Given the description of an element on the screen output the (x, y) to click on. 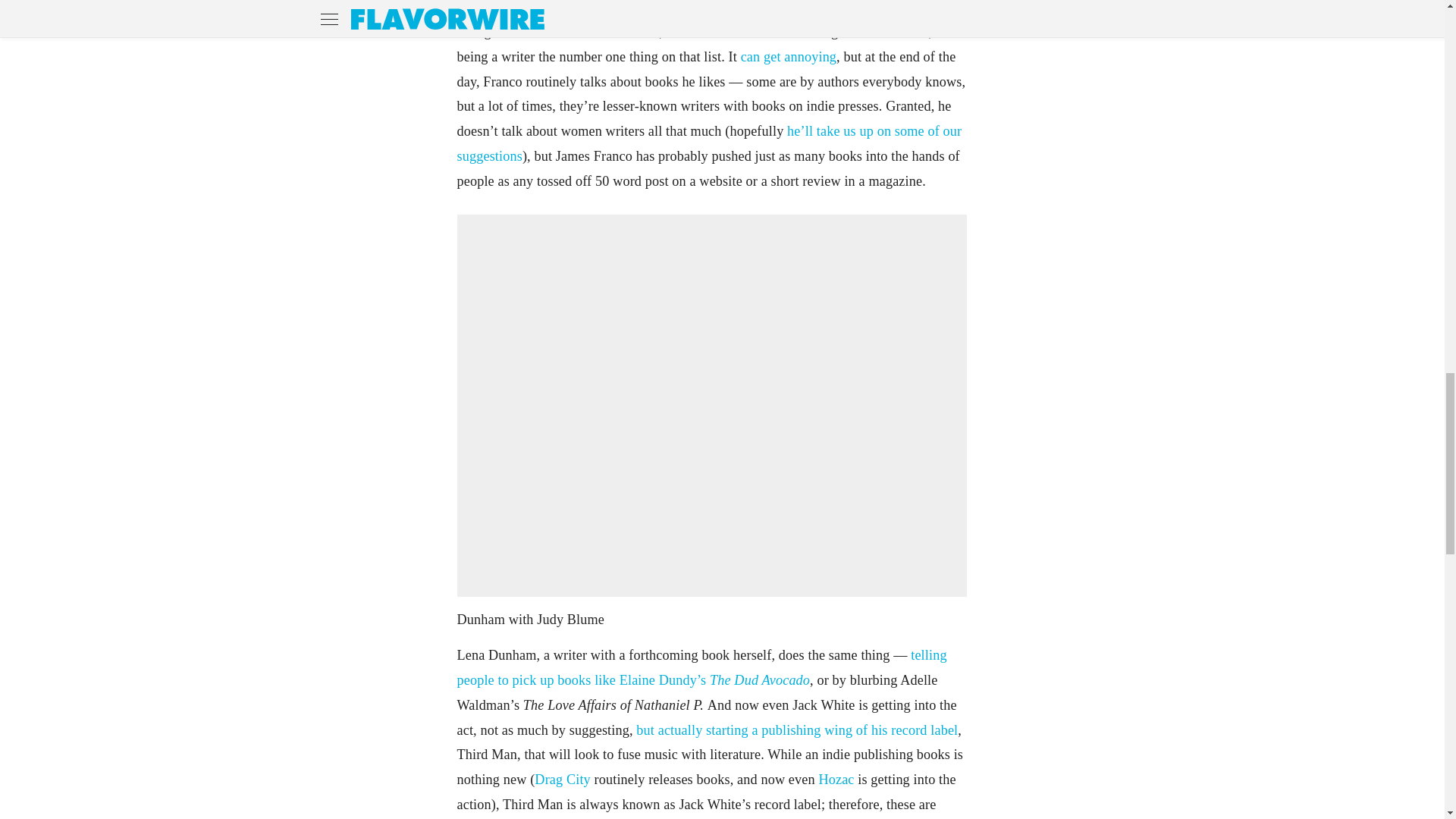
Drag City (562, 779)
but actually starting a publishing wing of his record label (797, 729)
can get annoying (788, 56)
Hozac (837, 779)
